Given the description of an element on the screen output the (x, y) to click on. 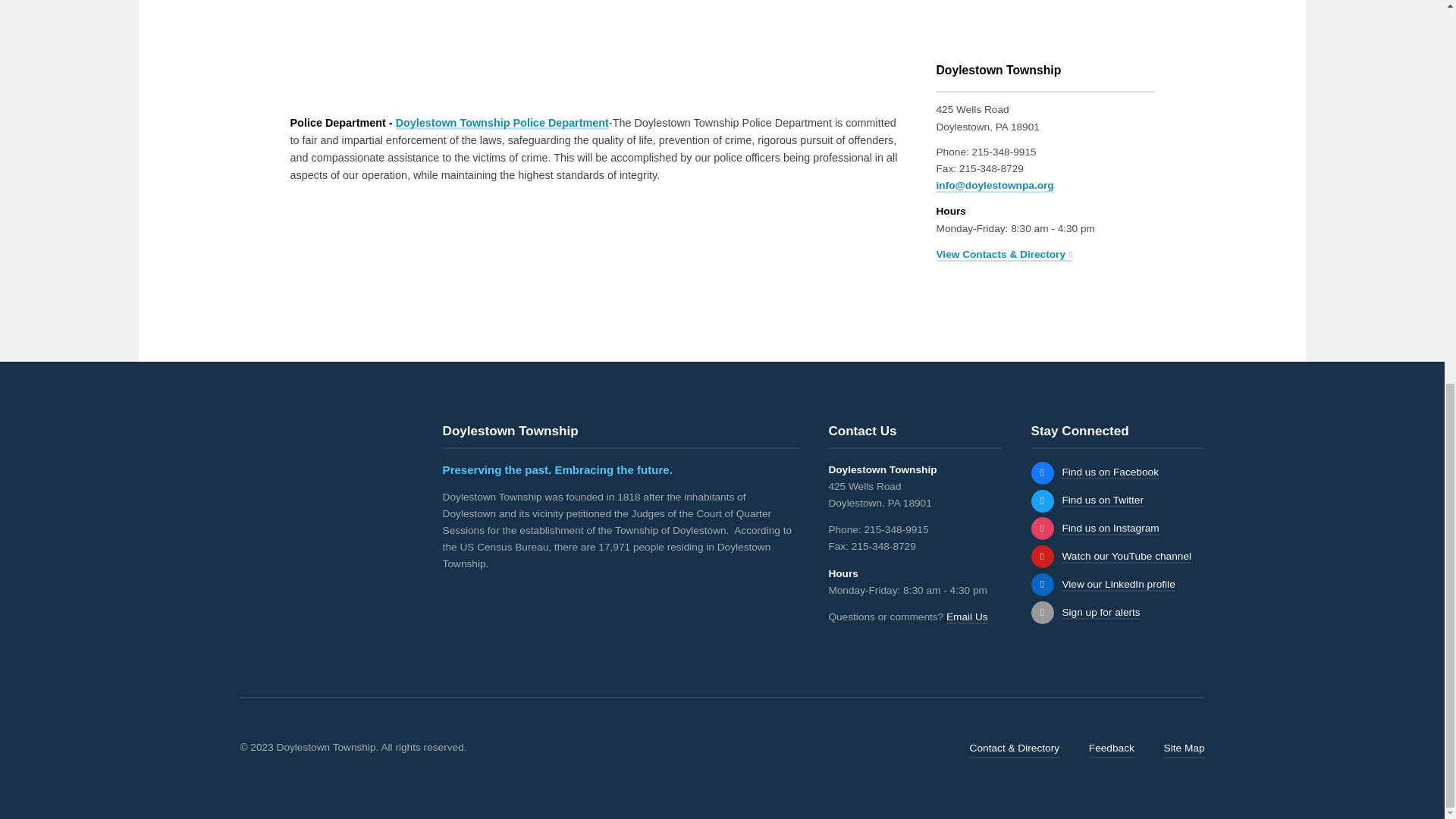
Find us on Facebook (1042, 472)
Watch our YouTube channel (1042, 556)
Watch our YouTube channel (1126, 556)
Find us on Facebook (1109, 472)
View our LinkedIn profile (1042, 584)
Find us on Twitter (1042, 500)
Find us on Instagram (1109, 528)
Find us on Twitter (1101, 500)
CabWeCountOnYou Long Version (425, 45)
View our LinkedIn profile (1117, 584)
